Given the description of an element on the screen output the (x, y) to click on. 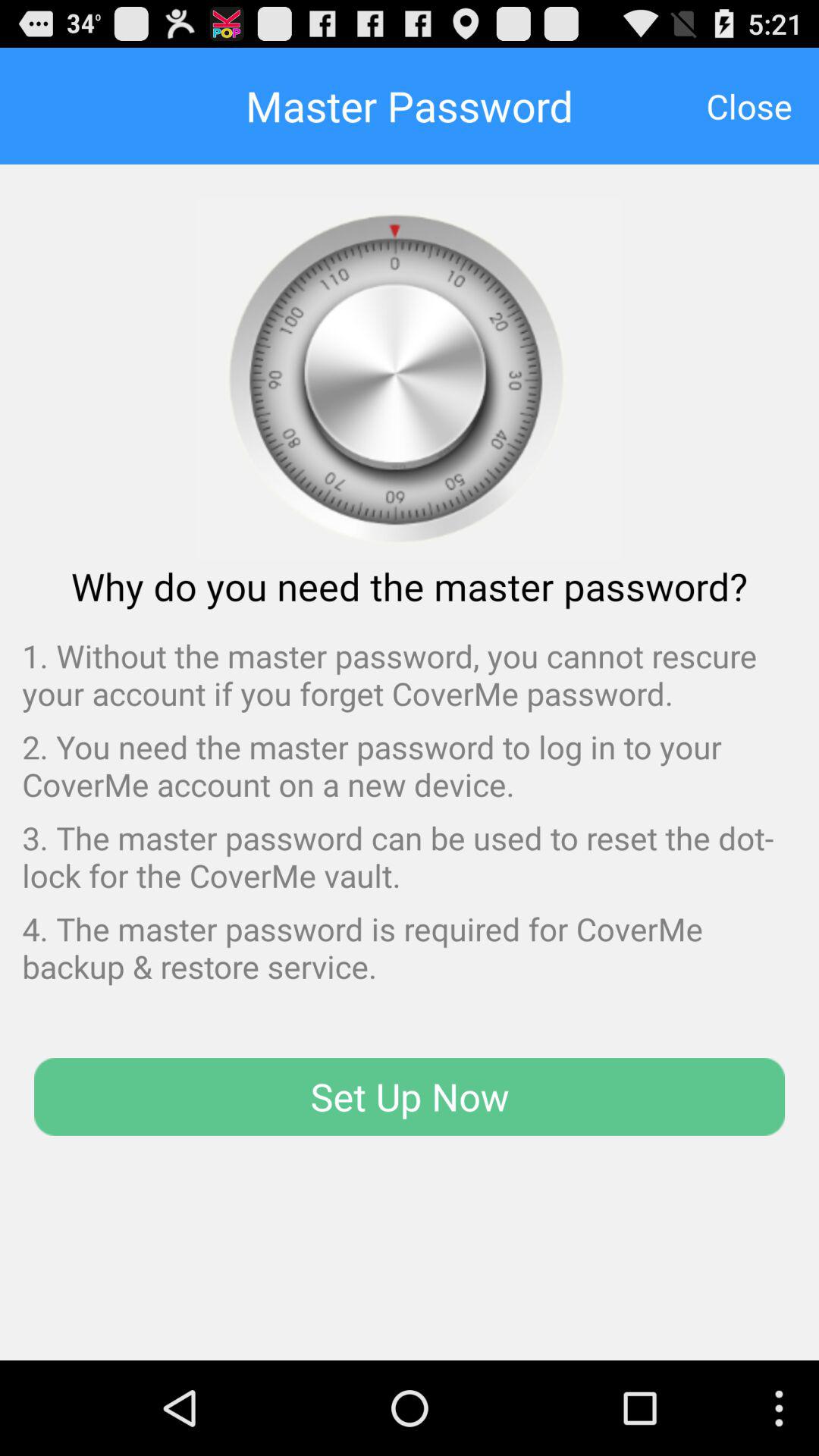
flip to close icon (749, 106)
